Given the description of an element on the screen output the (x, y) to click on. 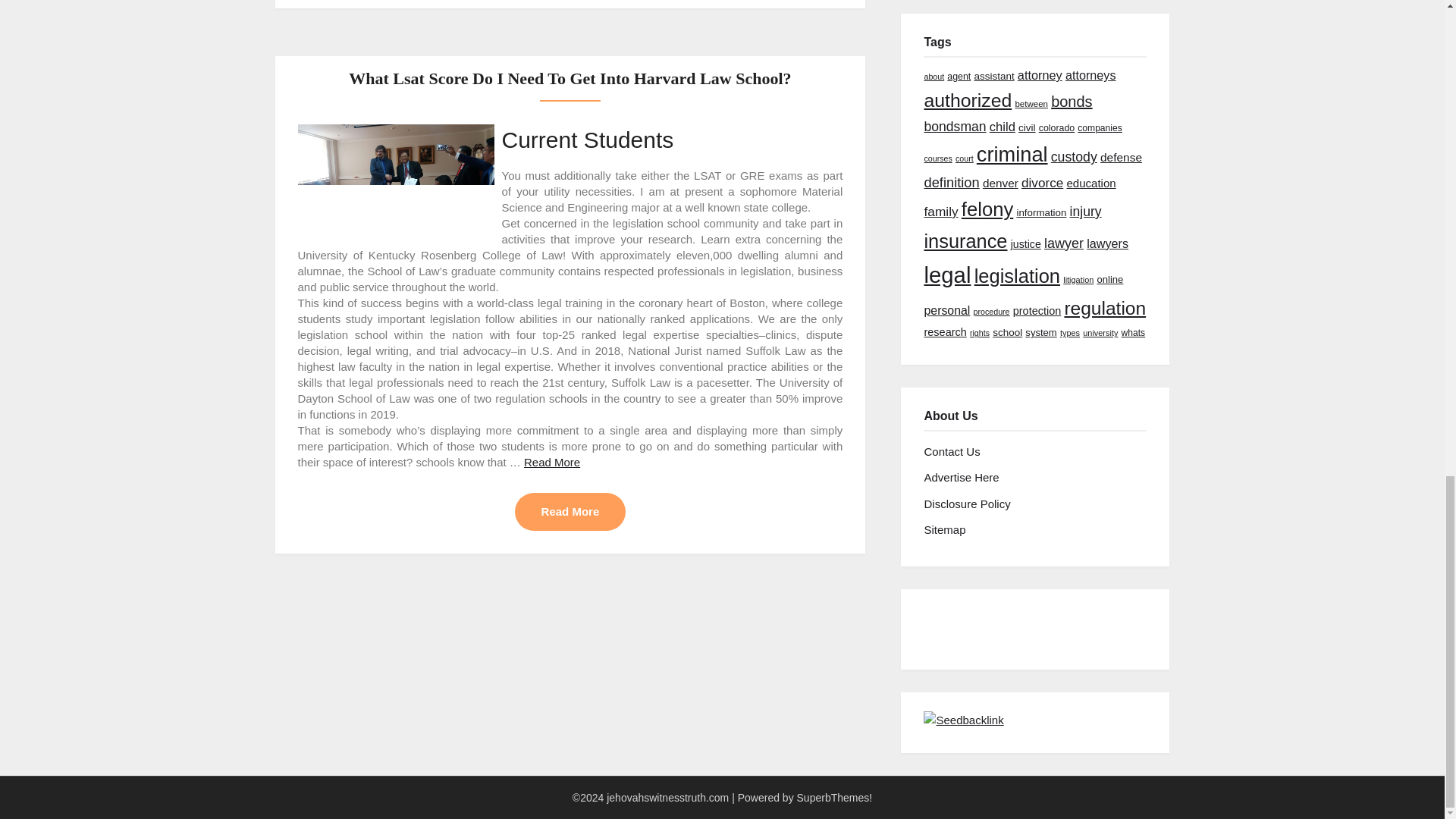
Read More (551, 461)
Read More (570, 511)
Seedbacklink (963, 720)
What Lsat Score Do I Need To Get Into Harvard Law School? (569, 77)
